Given the description of an element on the screen output the (x, y) to click on. 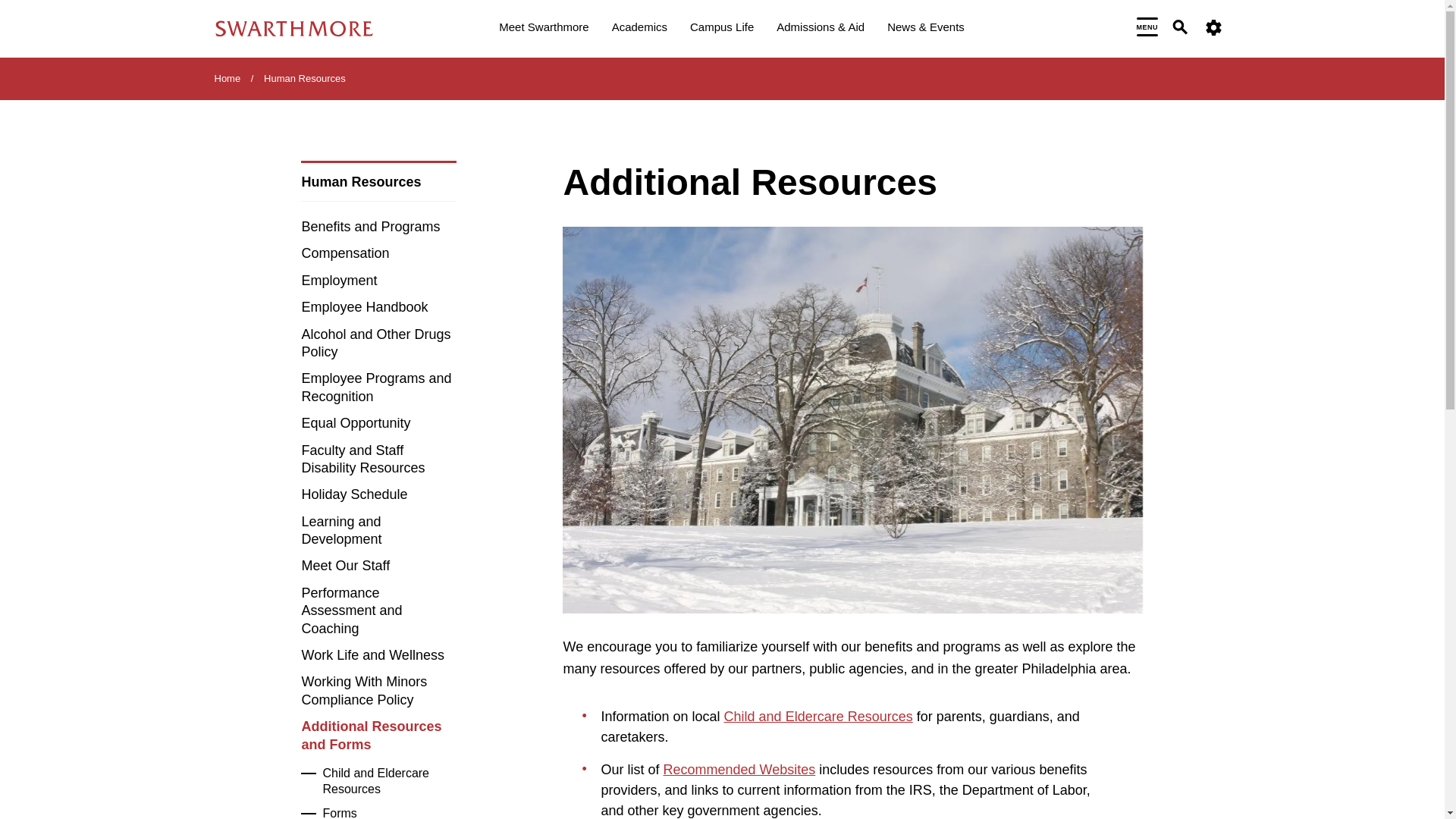
Campus Life (722, 28)
Academics (638, 28)
Meet Swarthmore (543, 28)
